Given the description of an element on the screen output the (x, y) to click on. 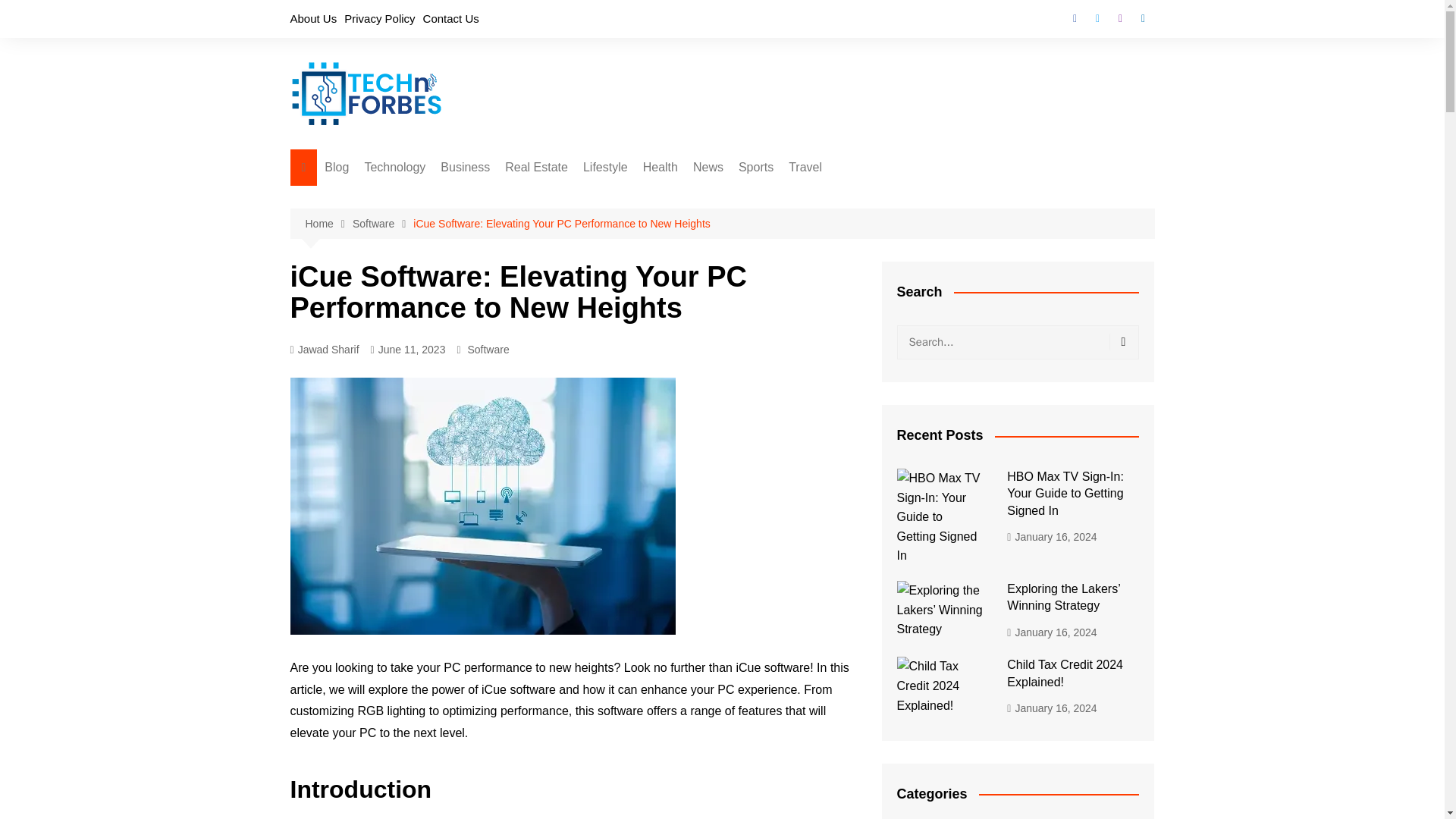
Jawad Sharif (323, 349)
iCue Software: Elevating Your PC Performance to New Heights (561, 223)
Technology (394, 167)
Digital Marketing (515, 197)
Home (328, 223)
Linkedin (1142, 18)
Privacy Policy (378, 18)
Real Estate (536, 167)
Blog (336, 167)
June 11, 2023 (408, 349)
